Given the description of an element on the screen output the (x, y) to click on. 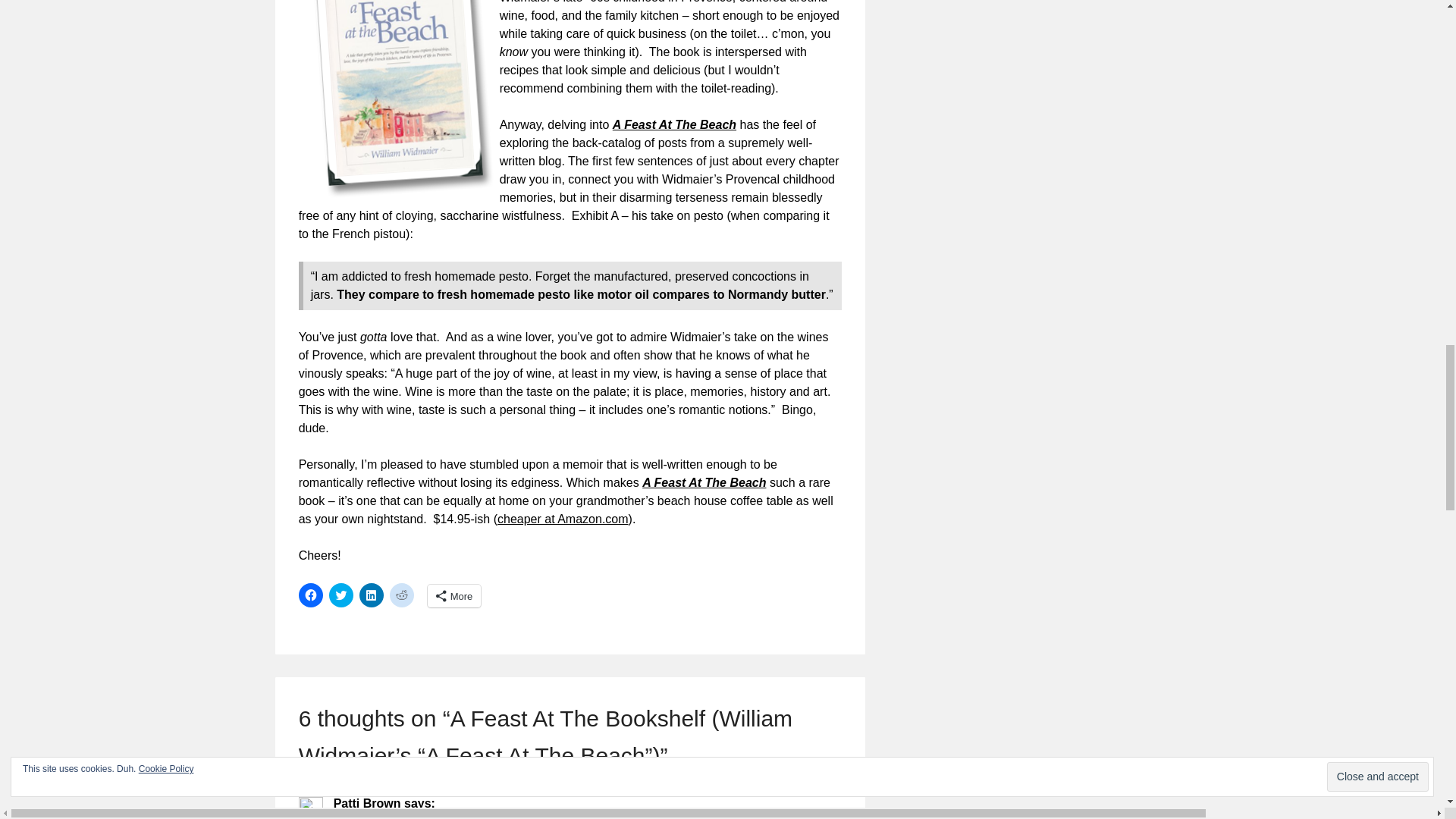
Click to share on Reddit (401, 595)
Click to share on Facebook (310, 595)
Click to share on Twitter (341, 595)
Click to share on LinkedIn (371, 595)
A Feast At The Beach (674, 124)
